Given the description of an element on the screen output the (x, y) to click on. 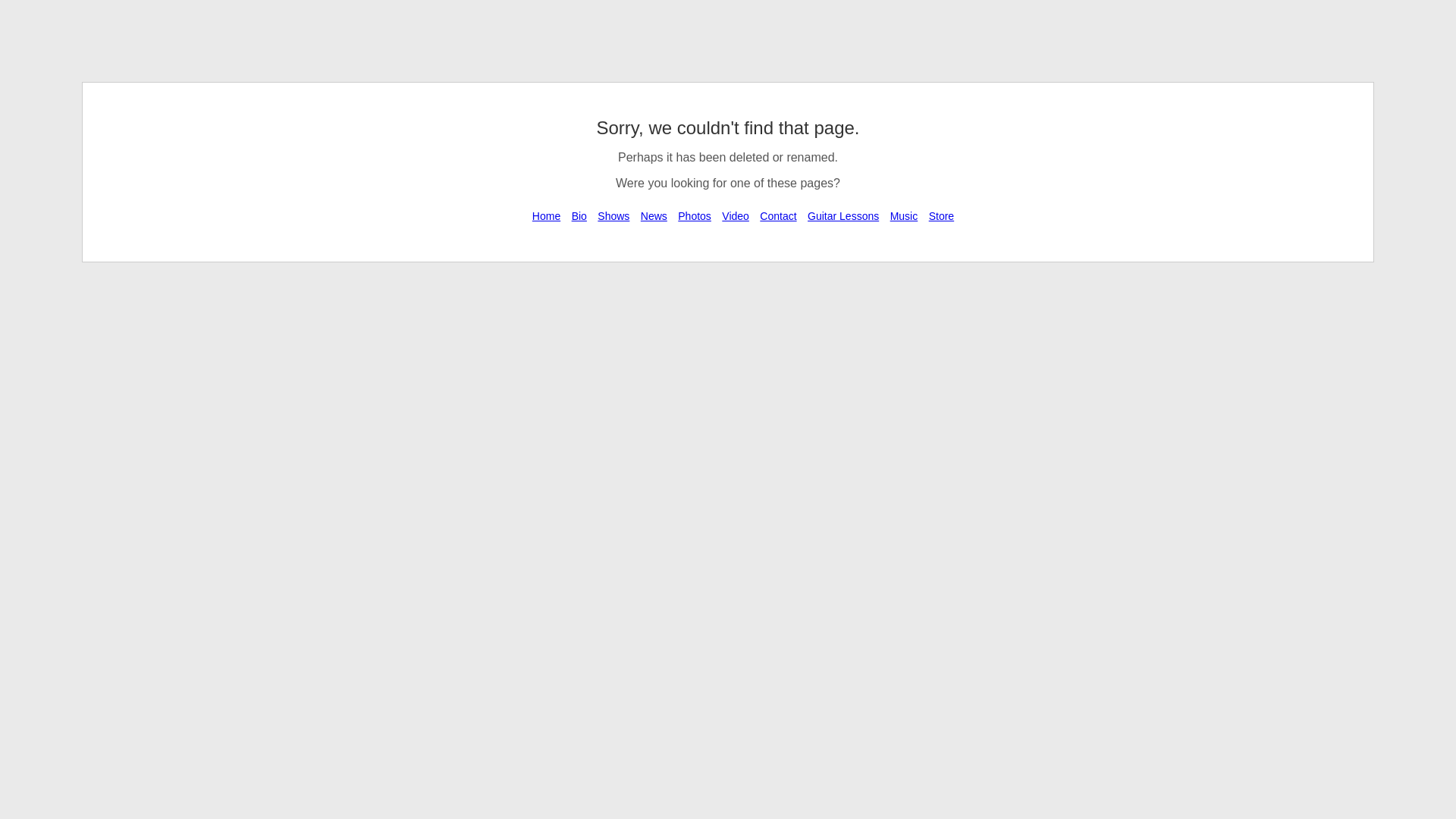
Shows (613, 215)
News (654, 215)
Video (734, 215)
Bio (579, 215)
Store (941, 215)
Photos (694, 215)
Guitar Lessons (842, 215)
Home (546, 215)
Music (903, 215)
Contact (777, 215)
